Given the description of an element on the screen output the (x, y) to click on. 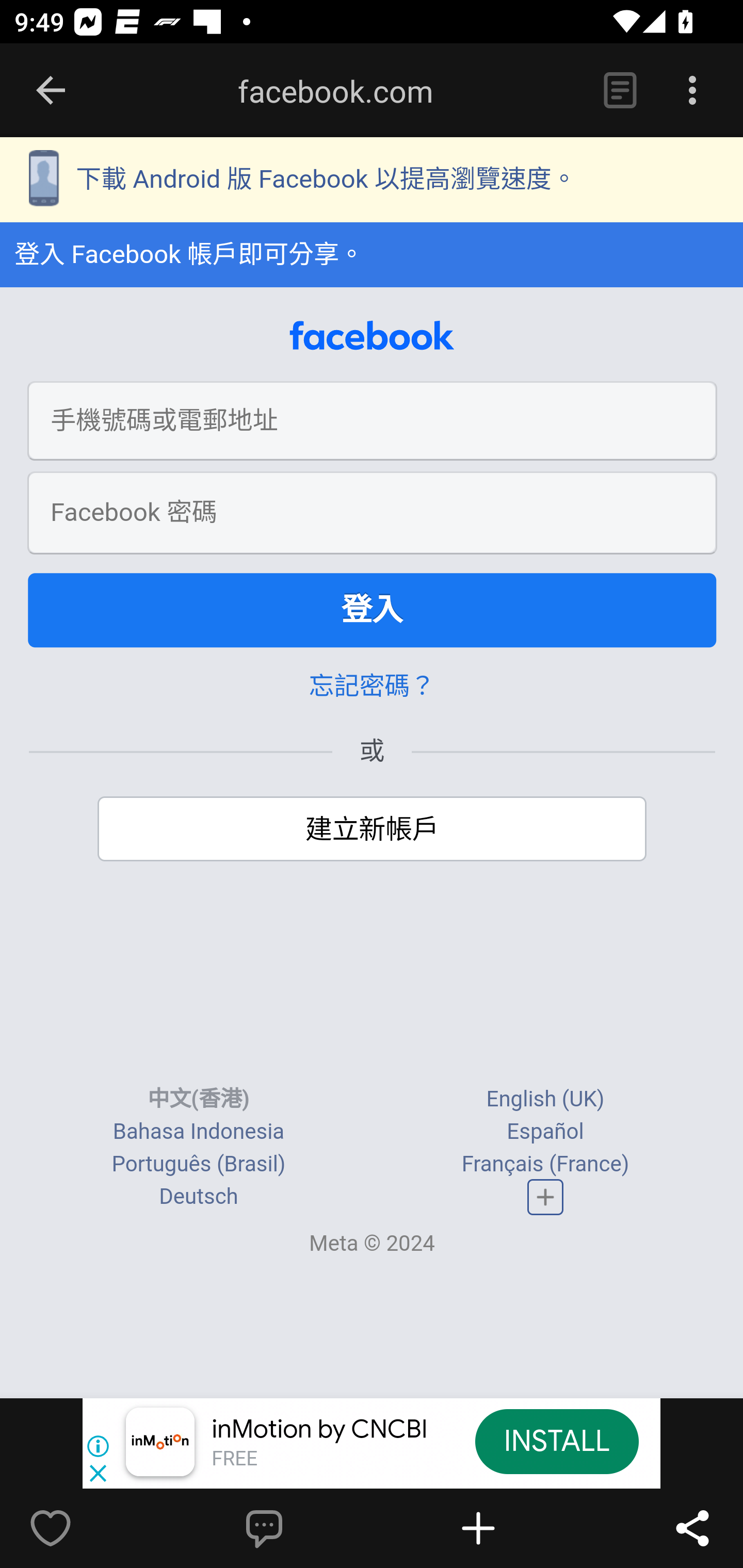
Back (50, 90)
Reader View (619, 90)
Options (692, 90)
下載 Android 版 Facebook 以提高瀏覽速度。 (371, 181)
facebook (372, 336)
登入 (372, 611)
忘記密碼？ (371, 687)
建立新帳戶 (372, 829)
English (UK) (544, 1099)
Bahasa Indonesia (198, 1132)
Español (545, 1132)
Português (Brasil) (197, 1165)
Français (France) (544, 1165)
完整的語言清單 (545, 1197)
Deutsch (198, 1196)
INSTALL (556, 1441)
inMotion by CNCBI (319, 1429)
FREE (234, 1459)
Like (93, 1528)
Write a comment… (307, 1528)
Flip into Magazine (521, 1528)
Share (692, 1528)
